Given the description of an element on the screen output the (x, y) to click on. 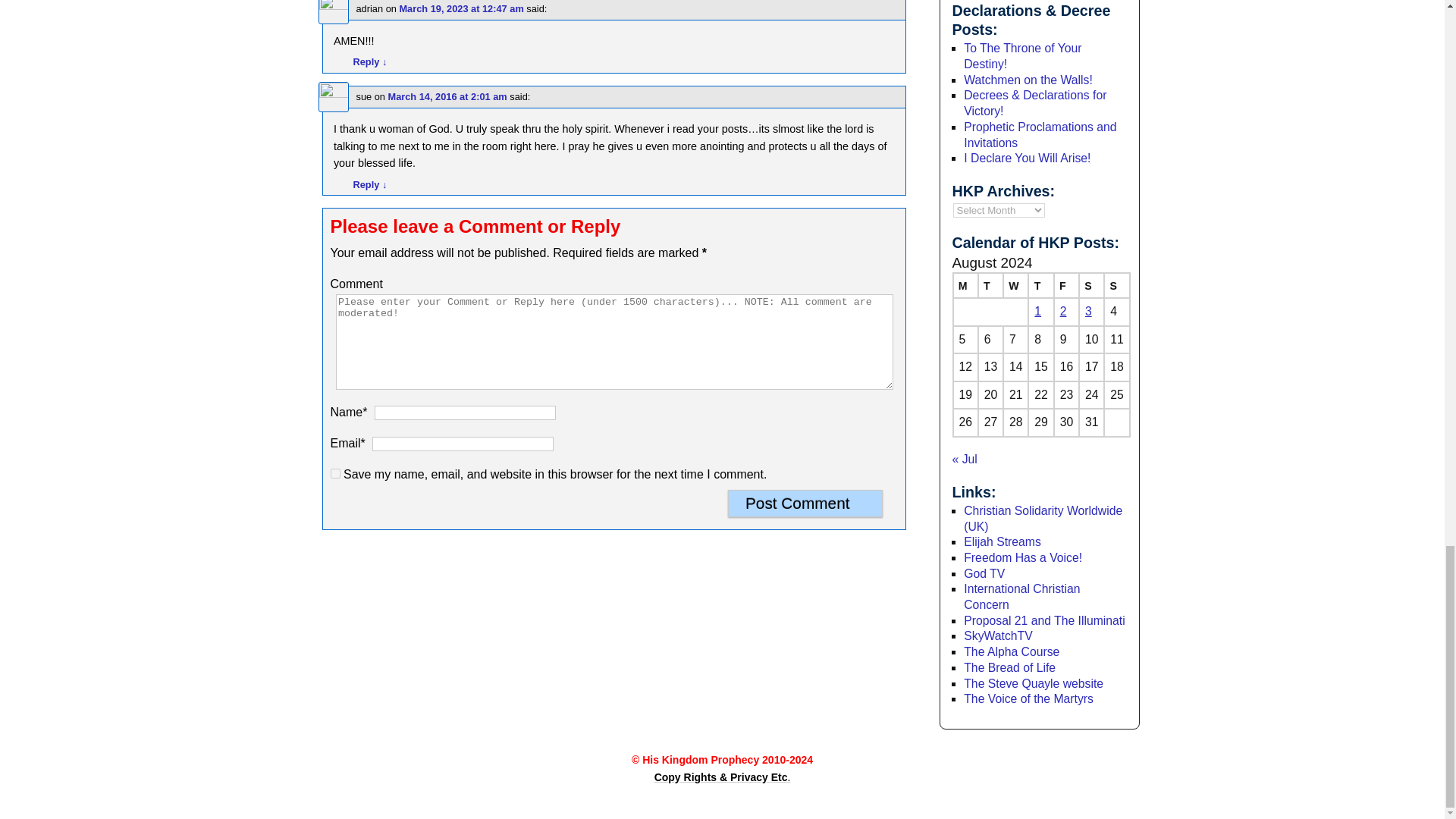
Wednesday (1015, 285)
Saturday (1090, 285)
Monday (964, 285)
Post Comment (805, 502)
Thursday (1039, 285)
yes (335, 473)
Tuesday (990, 285)
Friday (1066, 285)
